Given the description of an element on the screen output the (x, y) to click on. 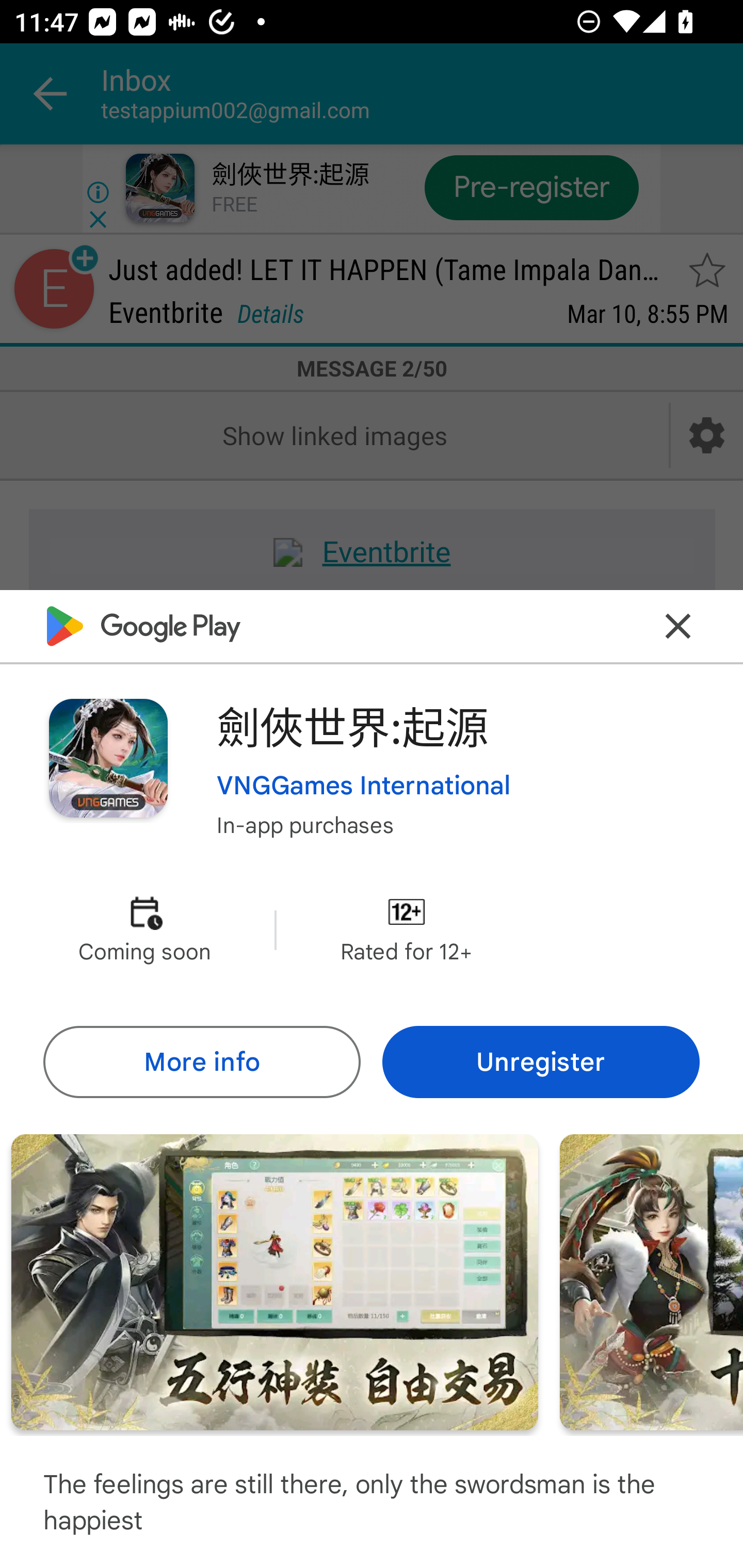
Close (677, 625)
Image of app or game icon for 劍俠世界:起源 (108, 758)
VNGGames International (363, 784)
More info (201, 1061)
Unregister (540, 1061)
Screenshot "2" of "5" (274, 1281)
